Given the description of an element on the screen output the (x, y) to click on. 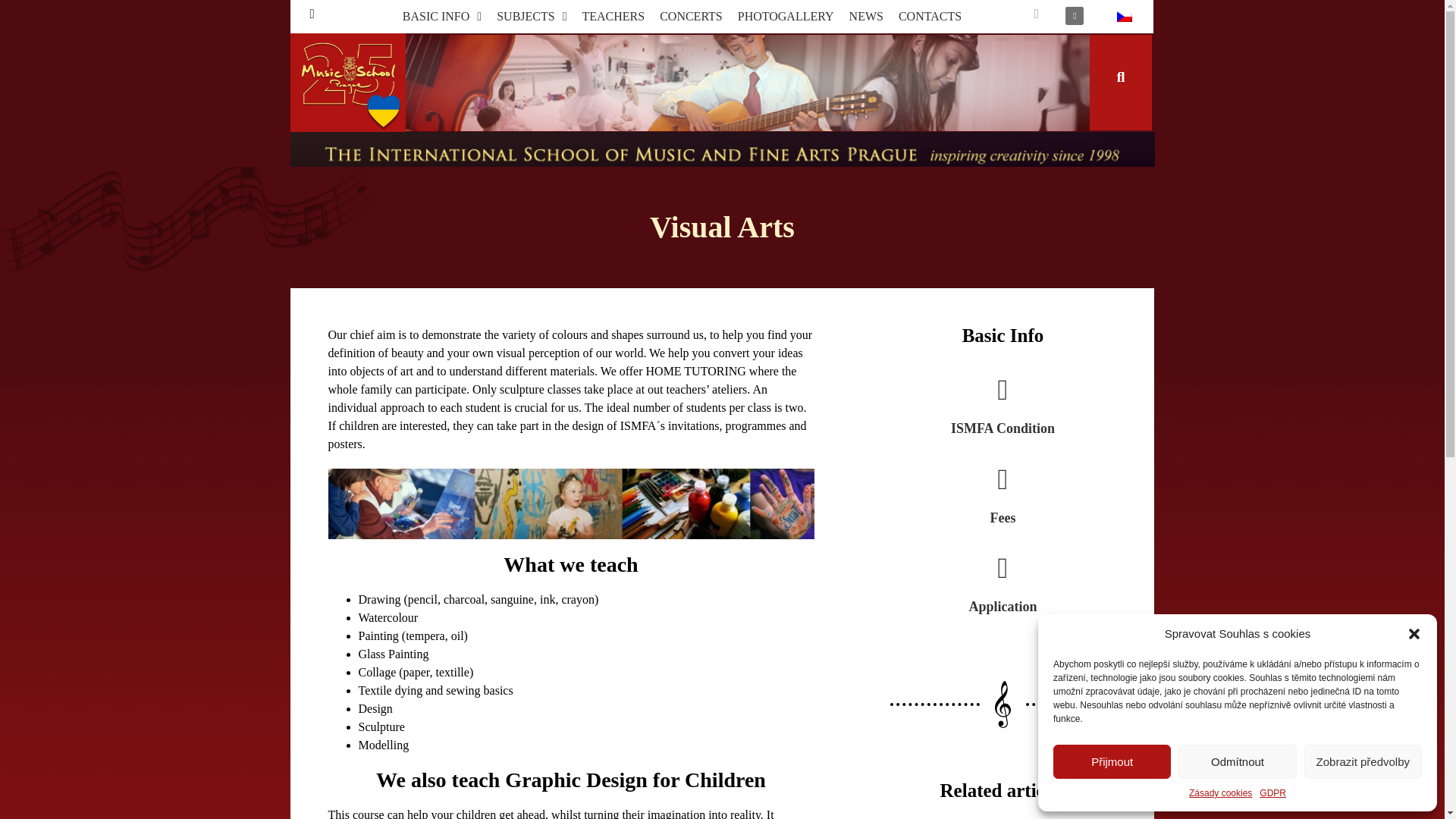
BASIC INFO (441, 16)
GDPR (1272, 793)
SUBJECTS (531, 16)
